Given the description of an element on the screen output the (x, y) to click on. 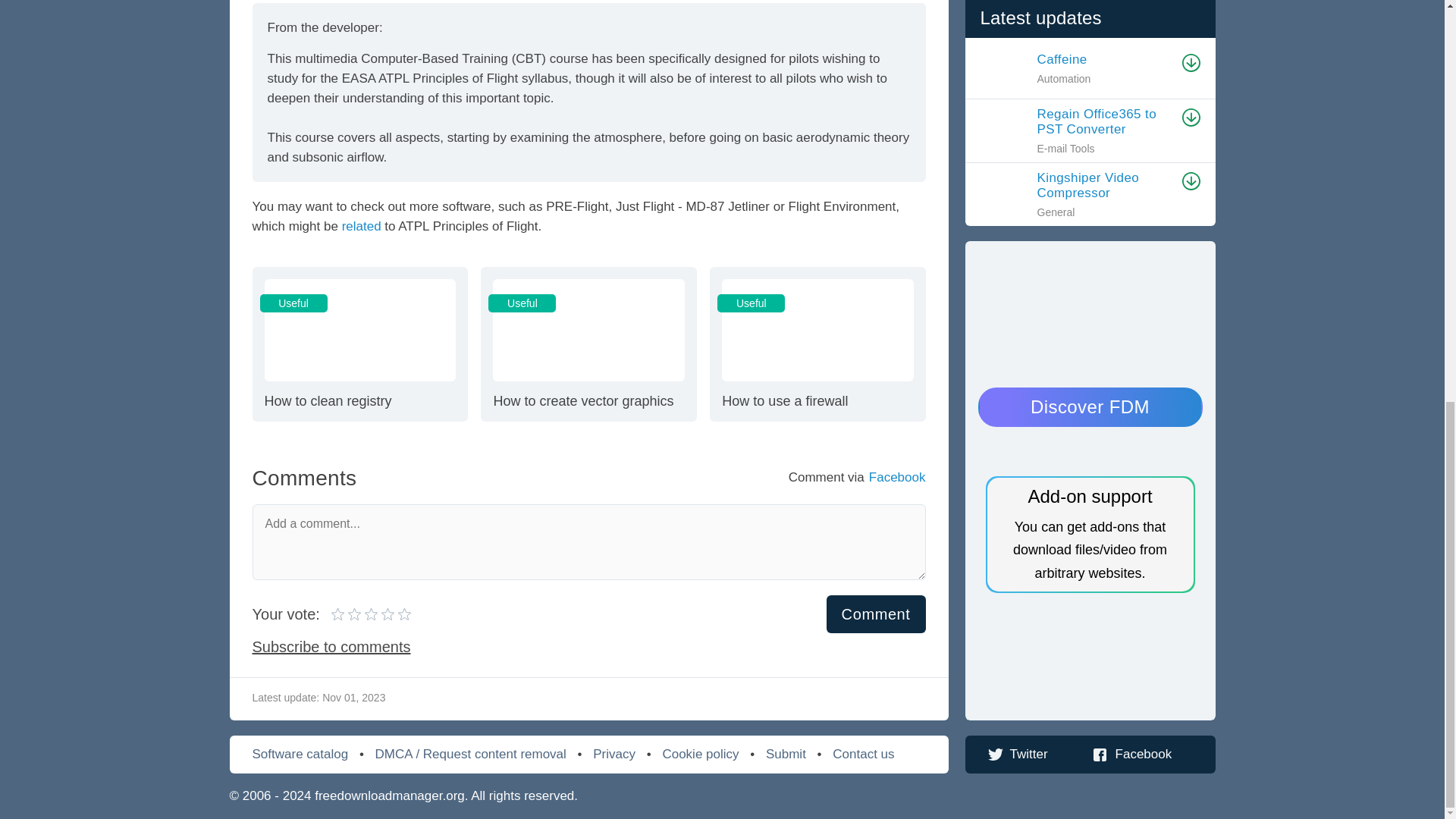
5 (370, 613)
1 (338, 613)
Comment (876, 614)
4 (363, 613)
related (361, 226)
Comment (876, 614)
2 (346, 613)
3 (817, 343)
